Given the description of an element on the screen output the (x, y) to click on. 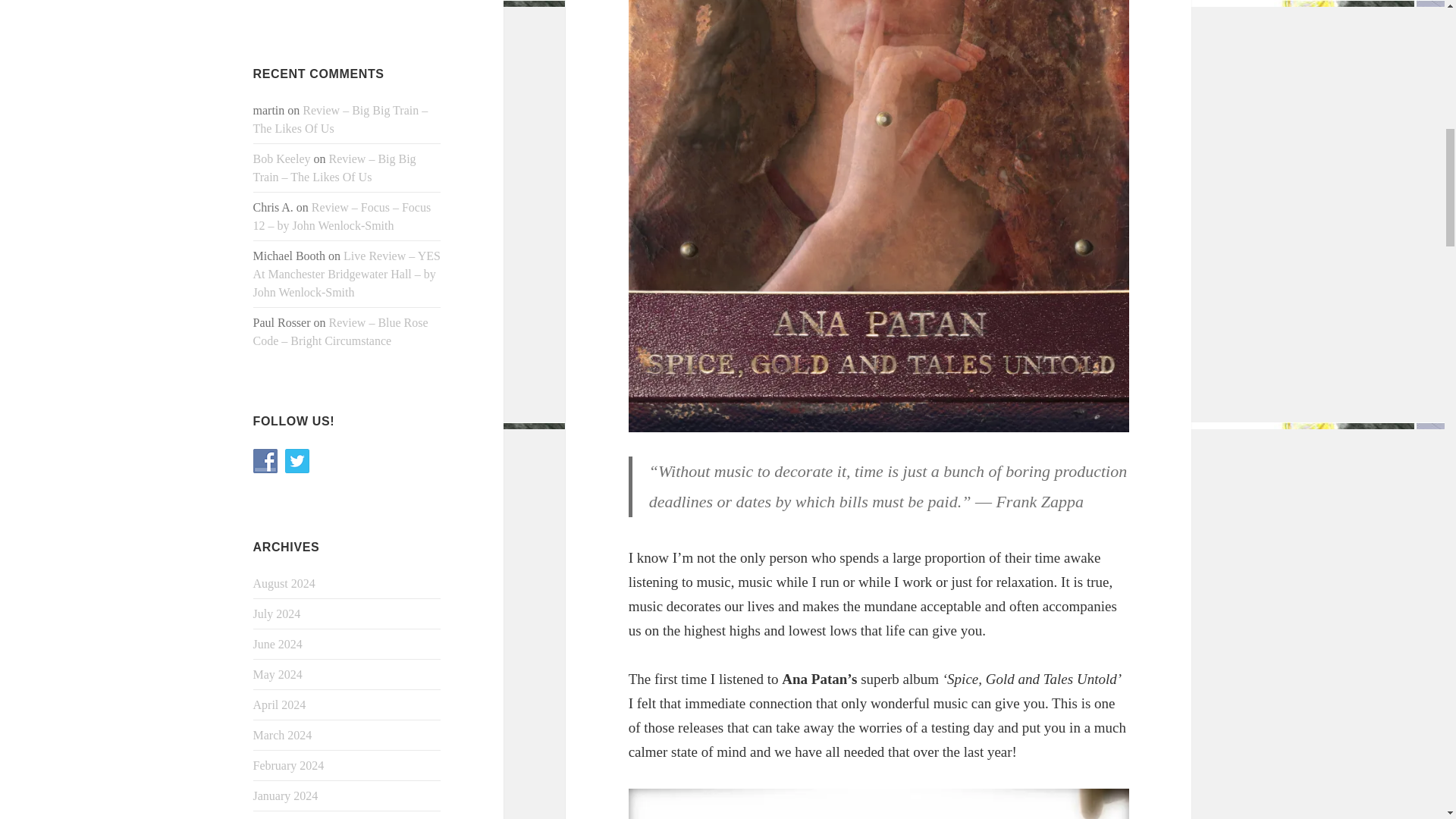
Facebook Progradar (265, 460)
August 2024 (284, 583)
May 2024 (277, 674)
January 2024 (285, 795)
February 2024 (288, 765)
March 2024 (283, 735)
June 2024 (277, 644)
July 2024 (277, 613)
Bob Keeley (282, 158)
April 2024 (279, 704)
